Given the description of an element on the screen output the (x, y) to click on. 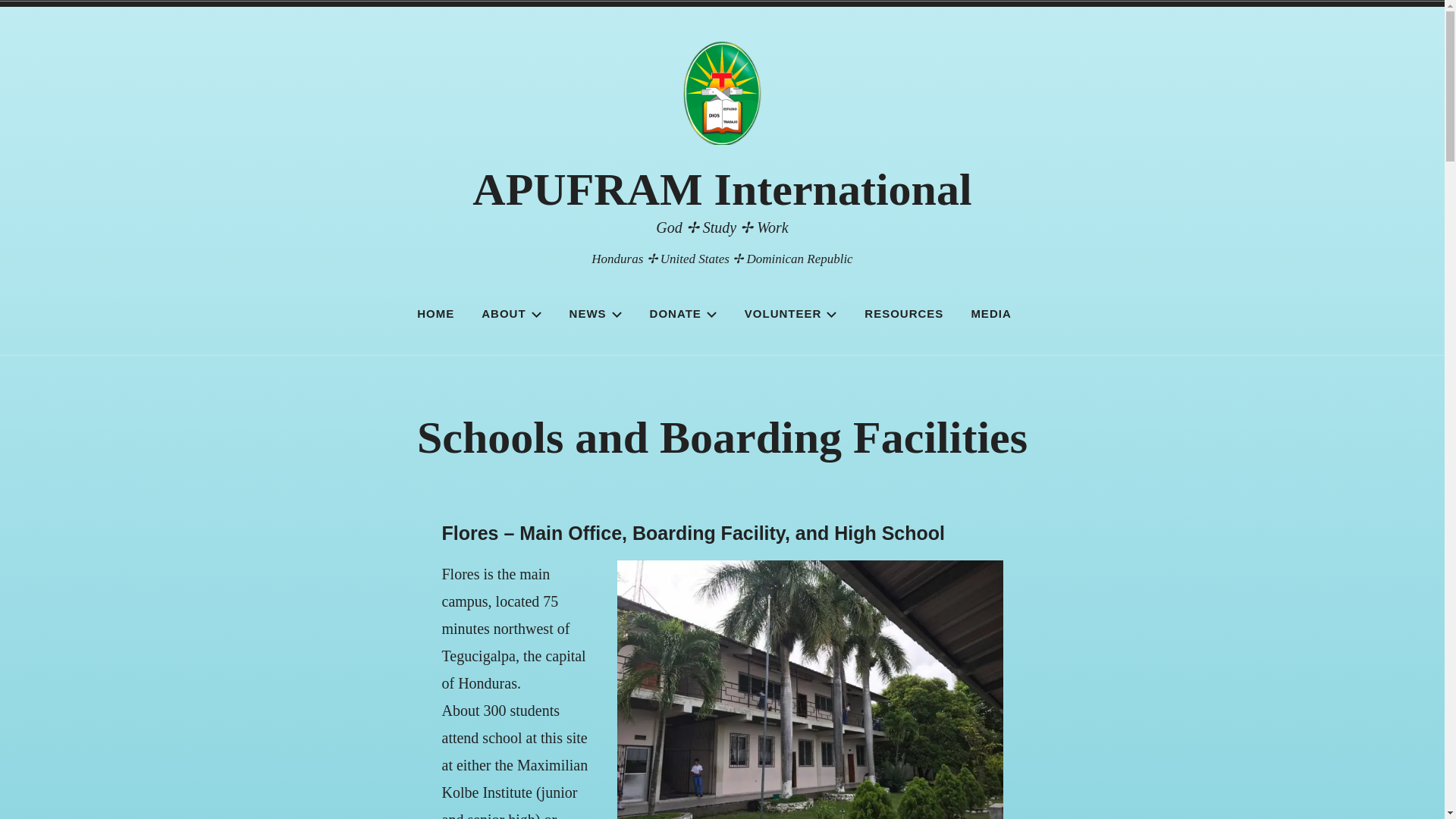
VOLUNTEER (790, 313)
RESOURCES (904, 313)
DONATE (684, 313)
HOME (435, 313)
MEDIA (990, 313)
ABOUT (511, 313)
APUFRAM International (721, 189)
NEWS (595, 313)
